Given the description of an element on the screen output the (x, y) to click on. 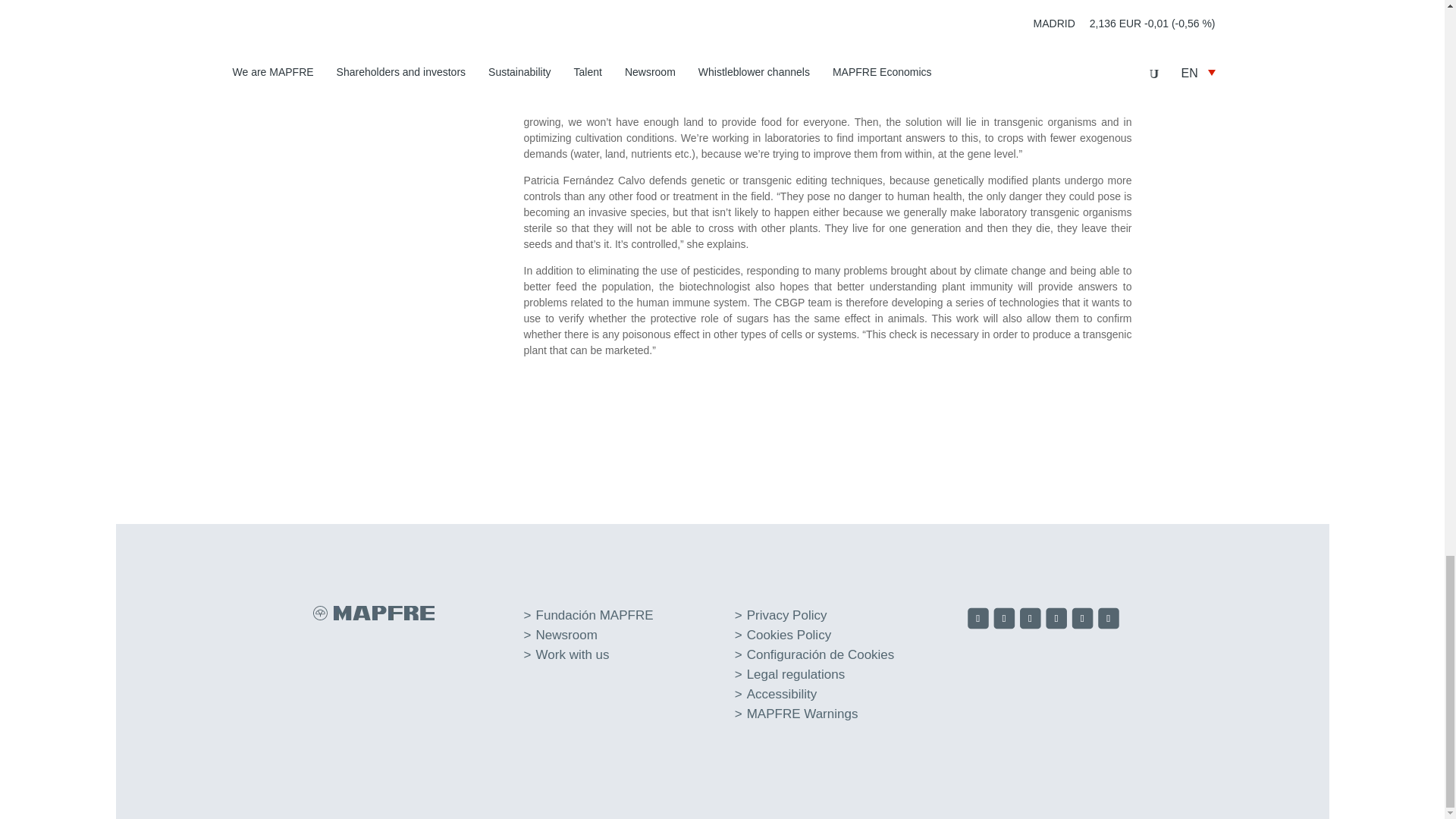
Follow on LinkedIn (1057, 620)
Follow on Instagram (1031, 620)
Follow on Youtube (1083, 620)
Follow on Spotify (1109, 620)
Work with us (572, 654)
Follow on Facebook (979, 620)
